Given the description of an element on the screen output the (x, y) to click on. 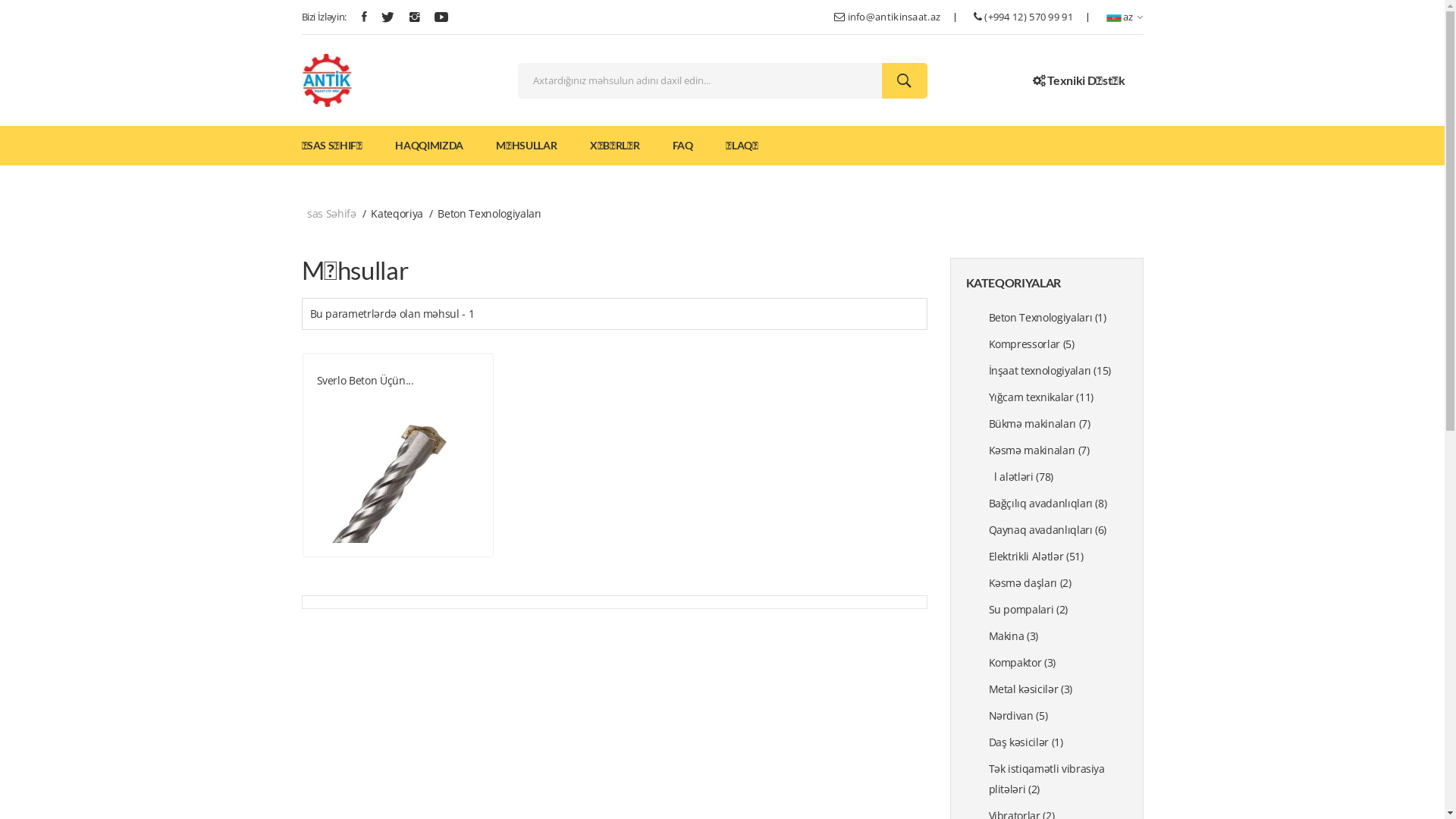
info@antikinsaat.az Element type: text (894, 17)
(+994 12) 570 99 91 Element type: text (1028, 17)
Kompaktor (3) Element type: text (1057, 662)
az Element type: text (1124, 17)
HAQQIMIZDA Element type: text (428, 145)
Kompressorlar (5) Element type: text (1057, 343)
Su pompalari (2) Element type: text (1057, 609)
Makina (3) Element type: text (1057, 635)
FAQ Element type: text (682, 145)
